Given the description of an element on the screen output the (x, y) to click on. 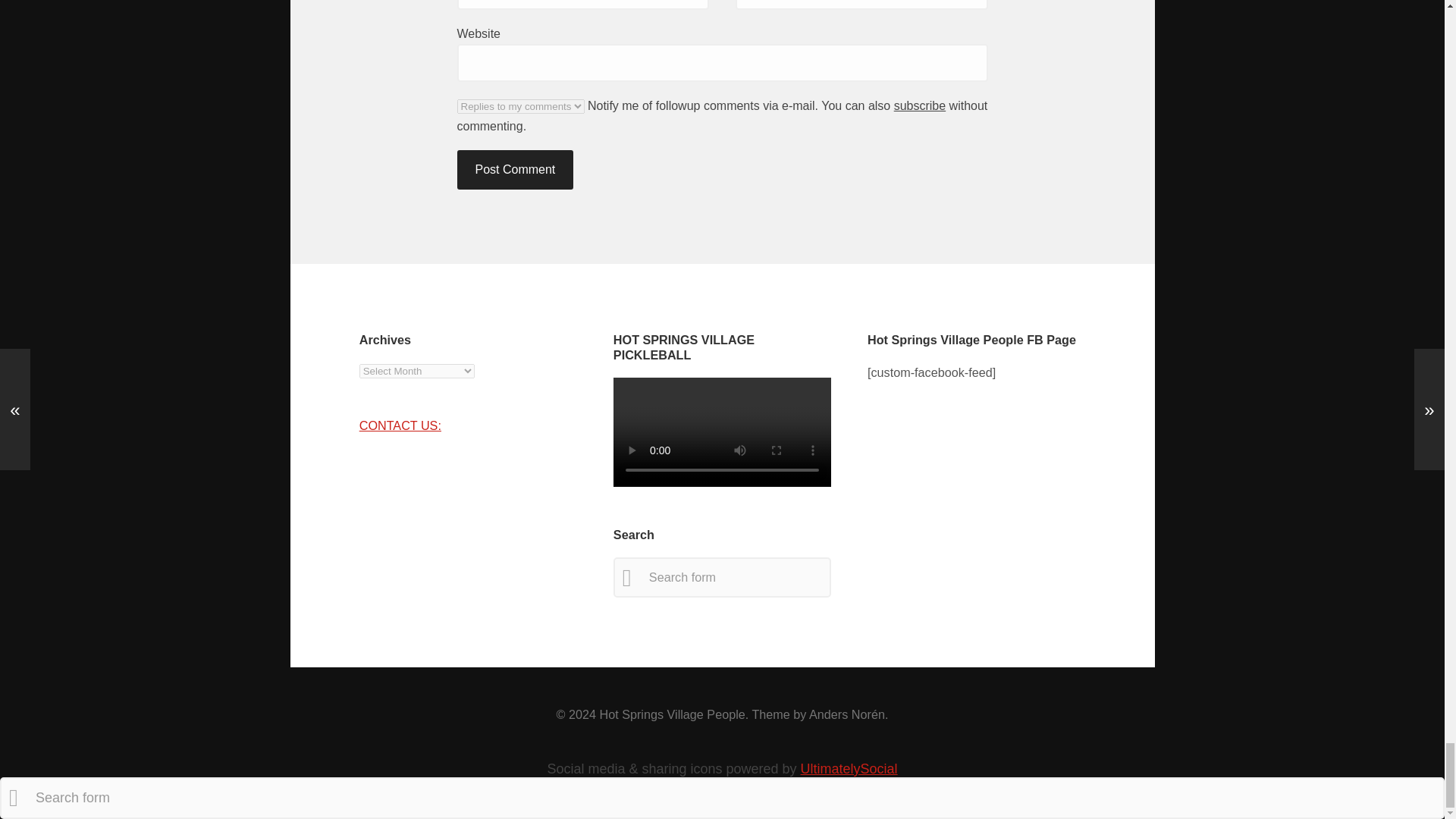
Post Comment (515, 169)
